Given the description of an element on the screen output the (x, y) to click on. 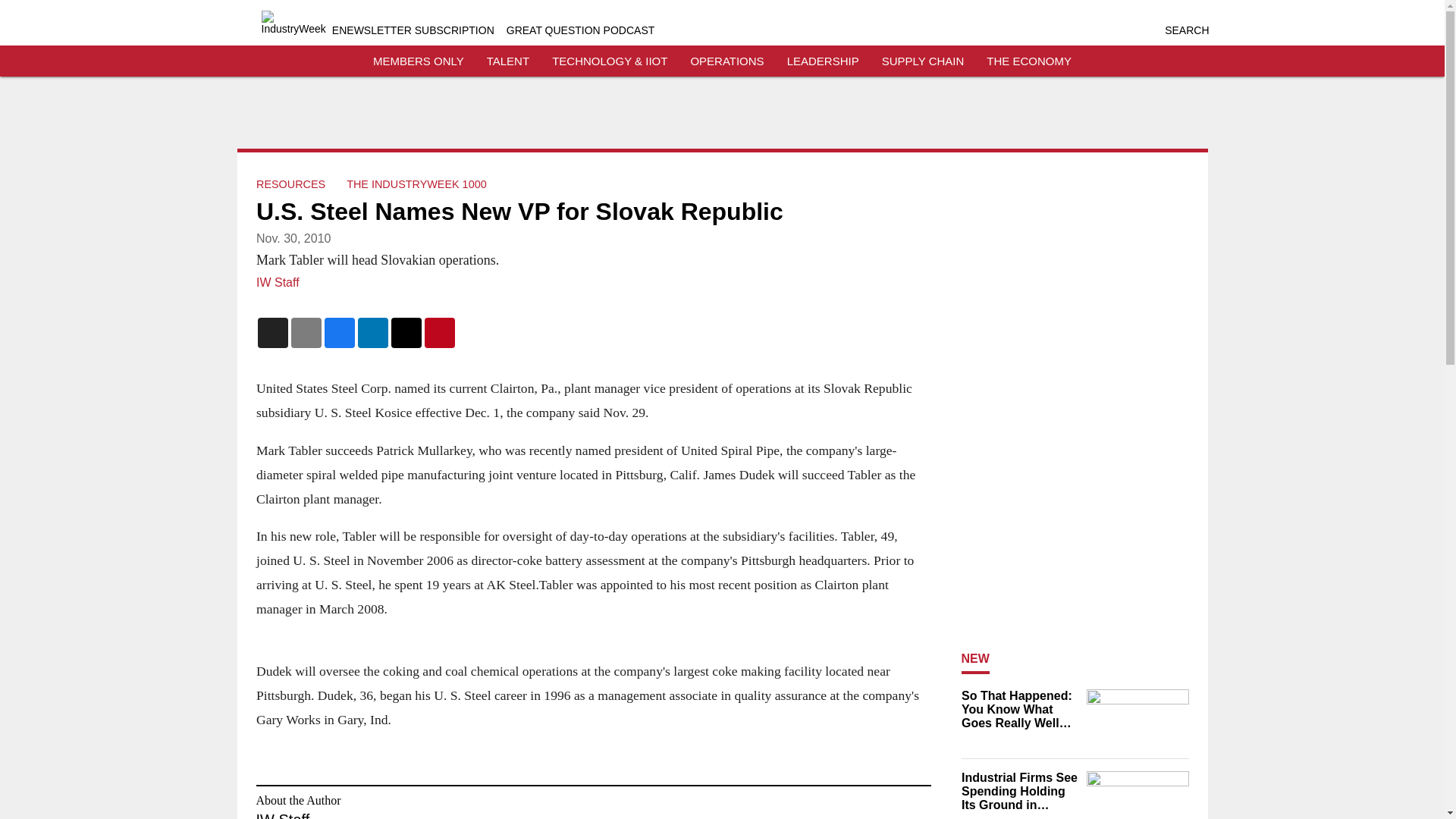
MEMBERS ONLY (418, 60)
IW Staff (277, 282)
TALENT (507, 60)
ENEWSLETTER SUBSCRIPTION (413, 30)
OPERATIONS (726, 60)
GREAT QUESTION PODCAST (580, 30)
SEARCH (1186, 30)
THE INDUSTRYWEEK 1000 (416, 184)
THE ECONOMY (1029, 60)
